Given the description of an element on the screen output the (x, y) to click on. 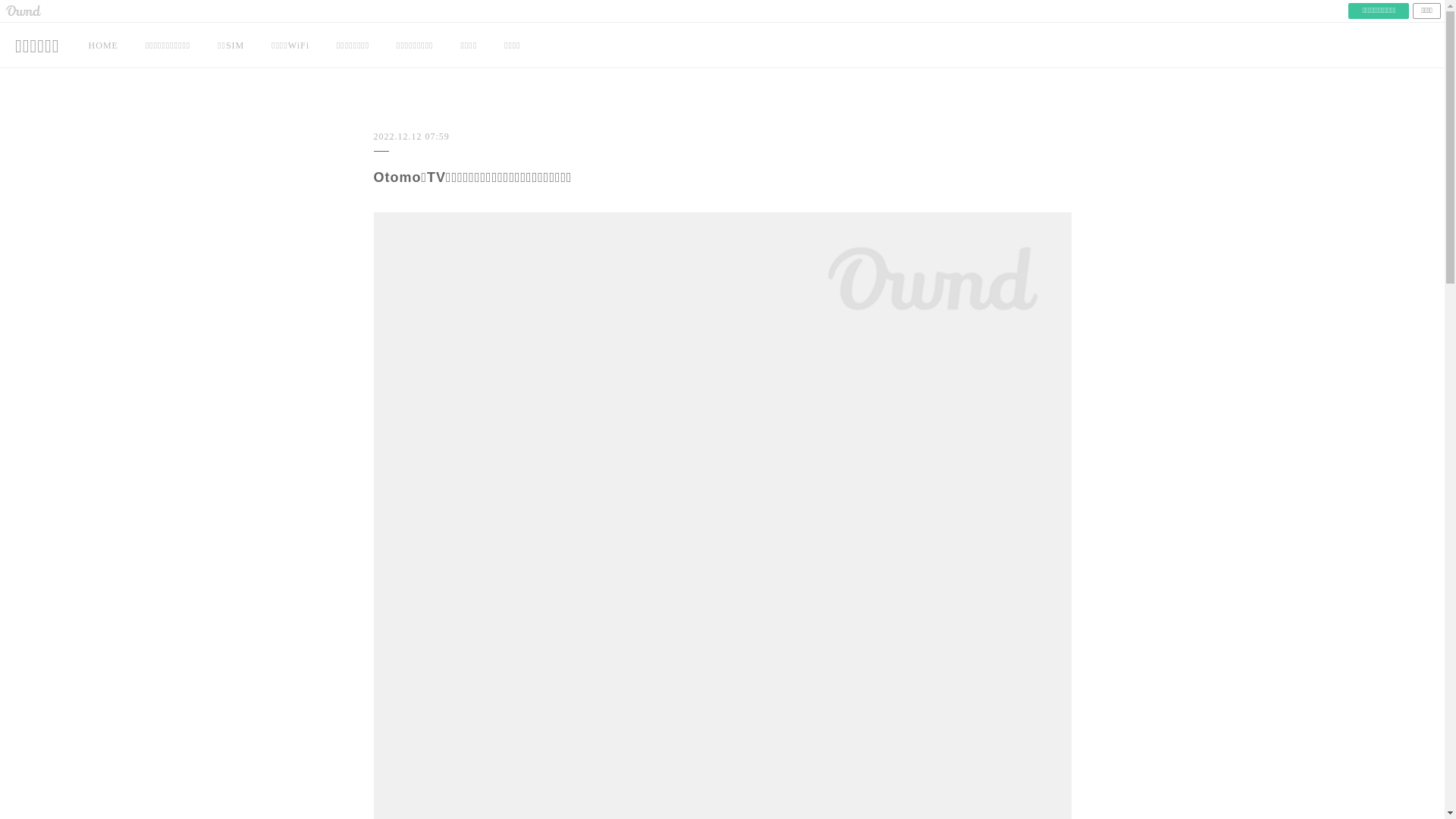
HOME Element type: text (103, 45)
